Given the description of an element on the screen output the (x, y) to click on. 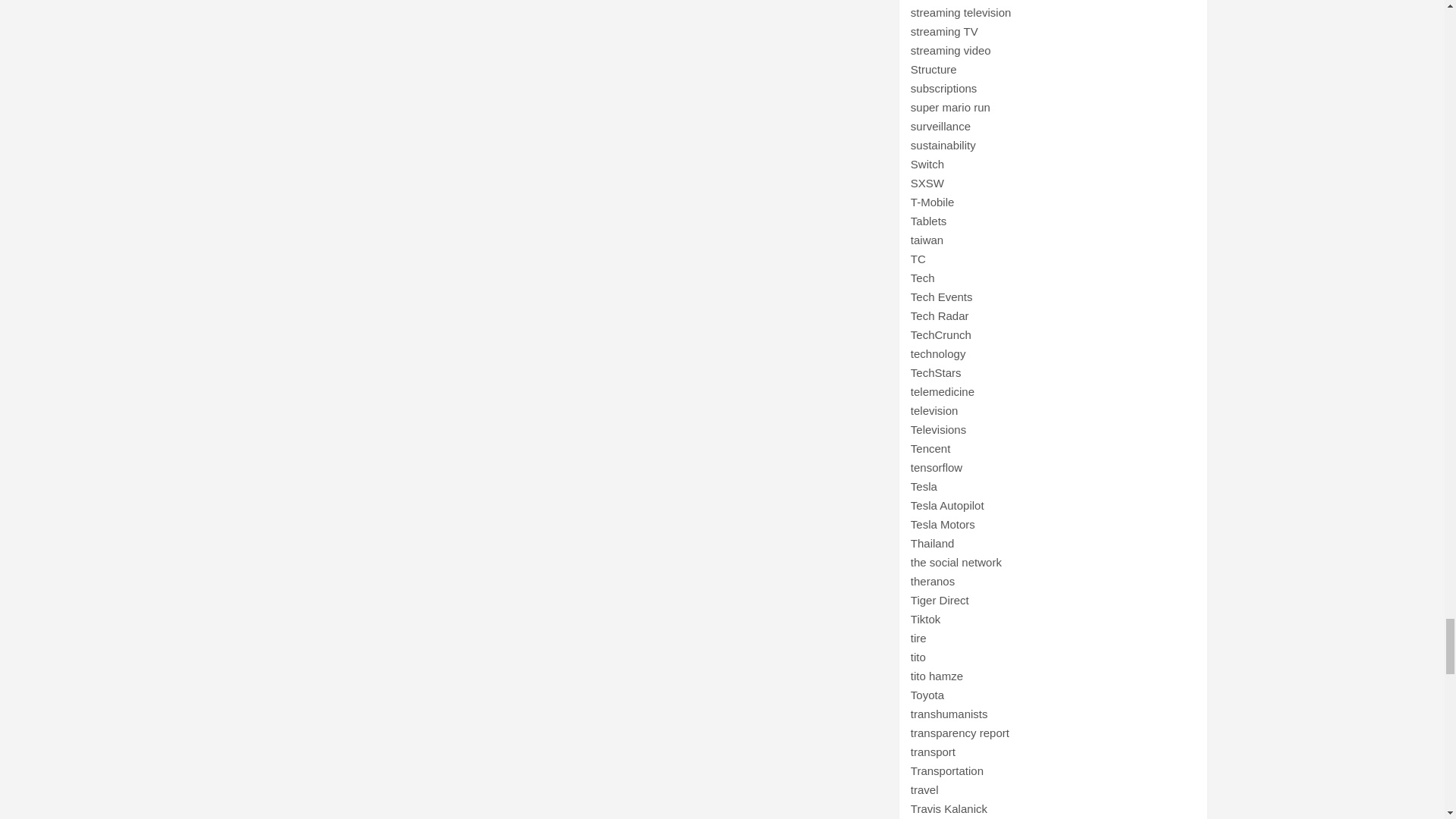
Tech Radar (940, 315)
Tiger Direct (940, 599)
